Given the description of an element on the screen output the (x, y) to click on. 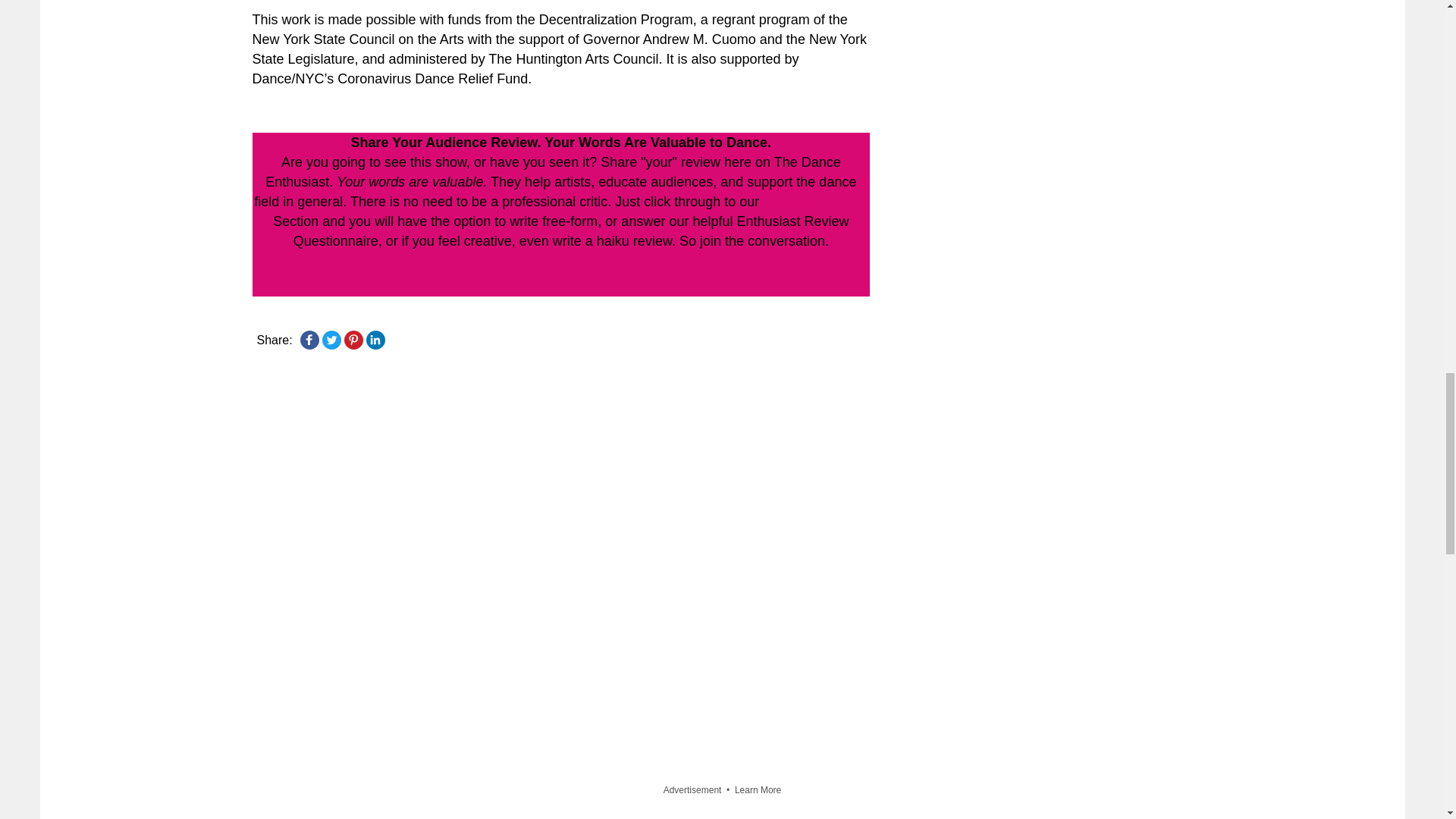
LinkedIn (375, 339)
Pinterest (353, 339)
Facebook (309, 339)
Twitter (331, 339)
